Given the description of an element on the screen output the (x, y) to click on. 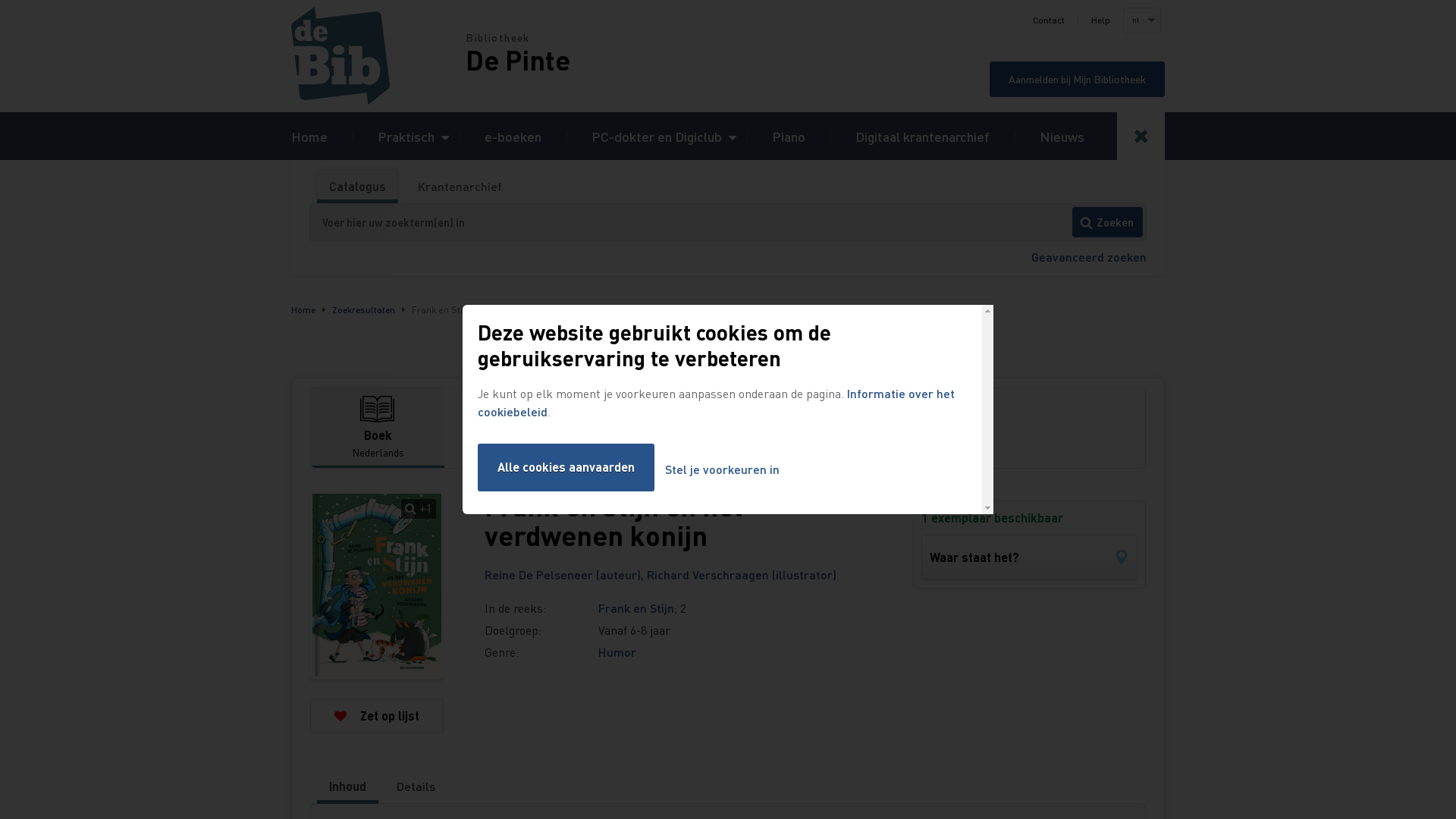
Piano Element type: text (788, 136)
Home Element type: text (303, 309)
Waar staat het? Element type: text (1029, 557)
Richard Verschraagen (illustrator) Element type: text (741, 574)
Zoeken Element type: text (1107, 222)
Contact Element type: text (1048, 20)
Krantenarchief Element type: text (459, 186)
Inhoud Element type: text (347, 786)
Reine De Pelseneer (auteur), Element type: text (565, 574)
Catalogus Element type: text (357, 186)
Zoekresultaten Element type: text (363, 309)
Nieuws Element type: text (1061, 136)
Home Element type: hover (378, 55)
Stel je voorkeuren in Element type: text (722, 469)
Help Element type: text (1100, 20)
Geavanceerd zoeken Element type: text (1088, 256)
Home Element type: text (309, 136)
Toggle search Element type: hover (1140, 136)
Details Element type: text (415, 786)
Humor Element type: text (617, 651)
Frank en Stijn Element type: text (636, 607)
e-boeken Element type: text (512, 136)
Alle cookies aanvaarden Element type: text (565, 466)
Digitaal krantenarchief Element type: text (922, 136)
nl Element type: text (1140, 20)
Overslaan en naar zoeken gaan Element type: text (0, 0)
Aanmelden bij Mijn Bibliotheek Element type: text (1076, 79)
Informatie over het cookiebeleid Element type: text (715, 402)
Zet op lijst Element type: text (376, 715)
